Given the description of an element on the screen output the (x, y) to click on. 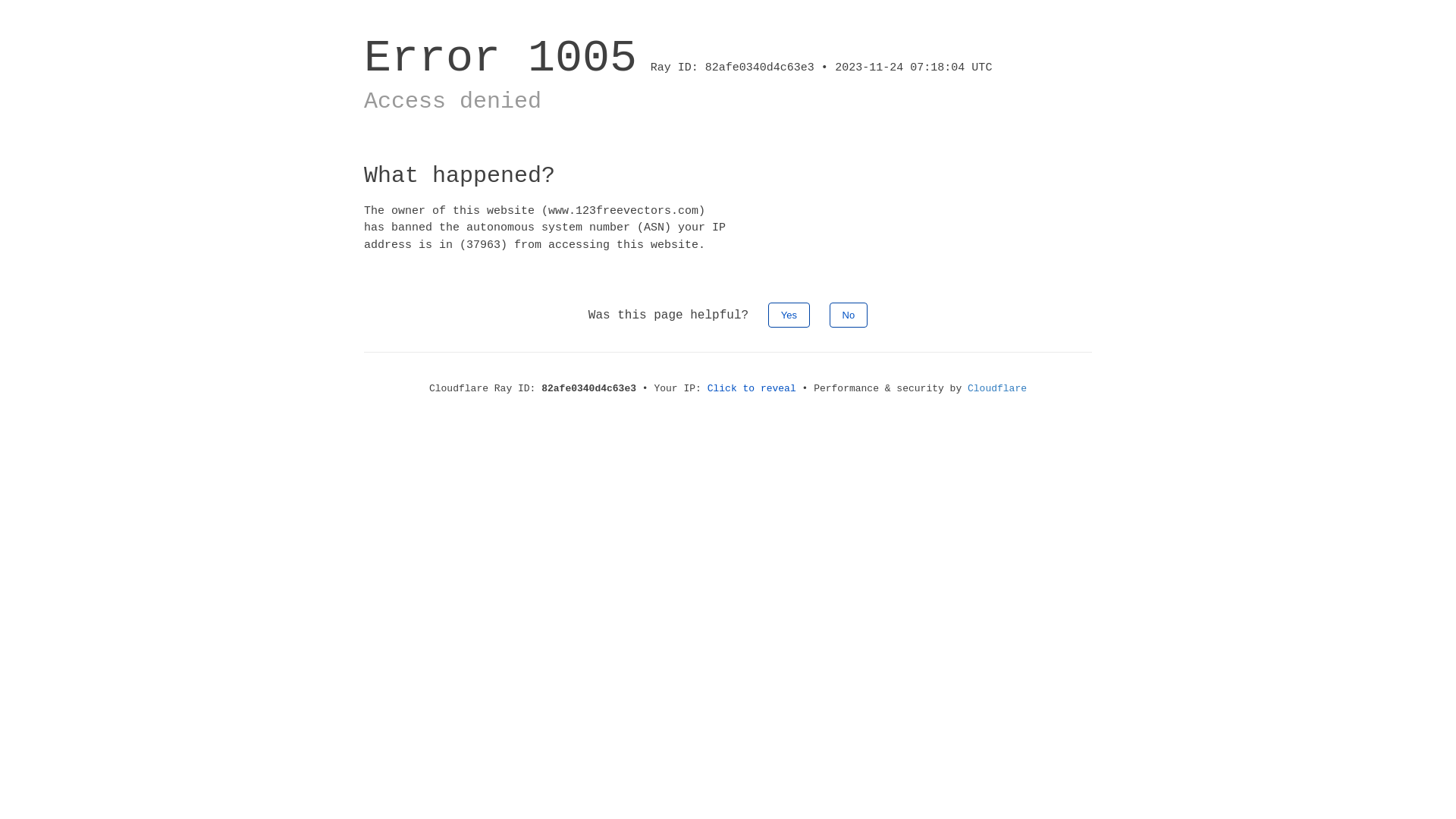
Yes Element type: text (788, 314)
Cloudflare Element type: text (996, 388)
No Element type: text (848, 314)
Click to reveal Element type: text (751, 388)
